Given the description of an element on the screen output the (x, y) to click on. 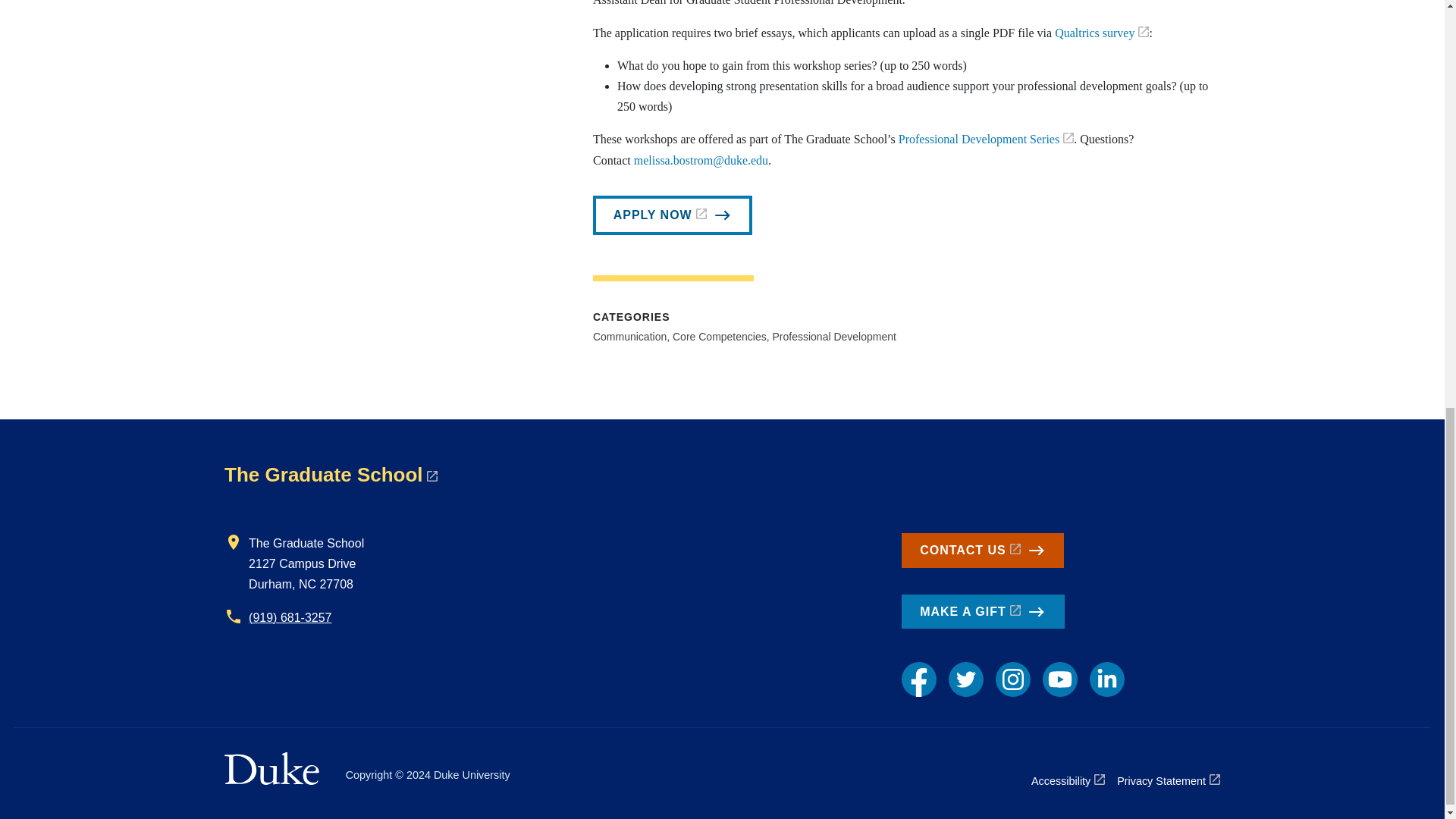
Instagram link (1012, 678)
CONTACT US (982, 550)
Facebook link (918, 678)
YouTube link (1059, 678)
Professional Development Series (986, 138)
Twitter link (966, 678)
Privacy Statement (1168, 781)
LinkedIn link (1106, 678)
Accessibility (1067, 781)
The Graduate School (331, 474)
